Given the description of an element on the screen output the (x, y) to click on. 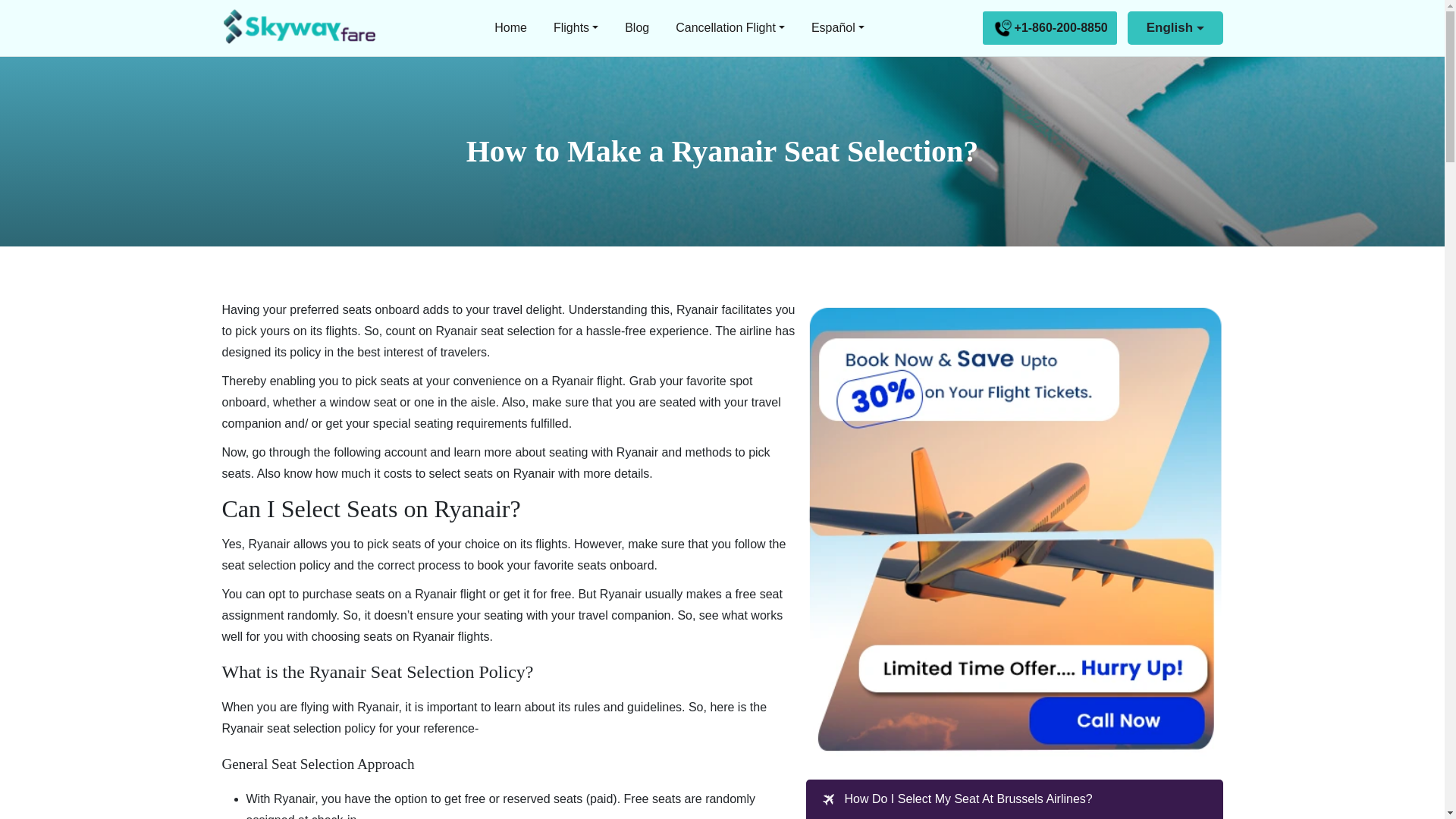
Cancellation Flight (729, 27)
Home (511, 27)
English (1175, 27)
How Do I Select My Seat At Brussels Airlines? (967, 799)
Flights (575, 27)
Blog (636, 27)
